Given the description of an element on the screen output the (x, y) to click on. 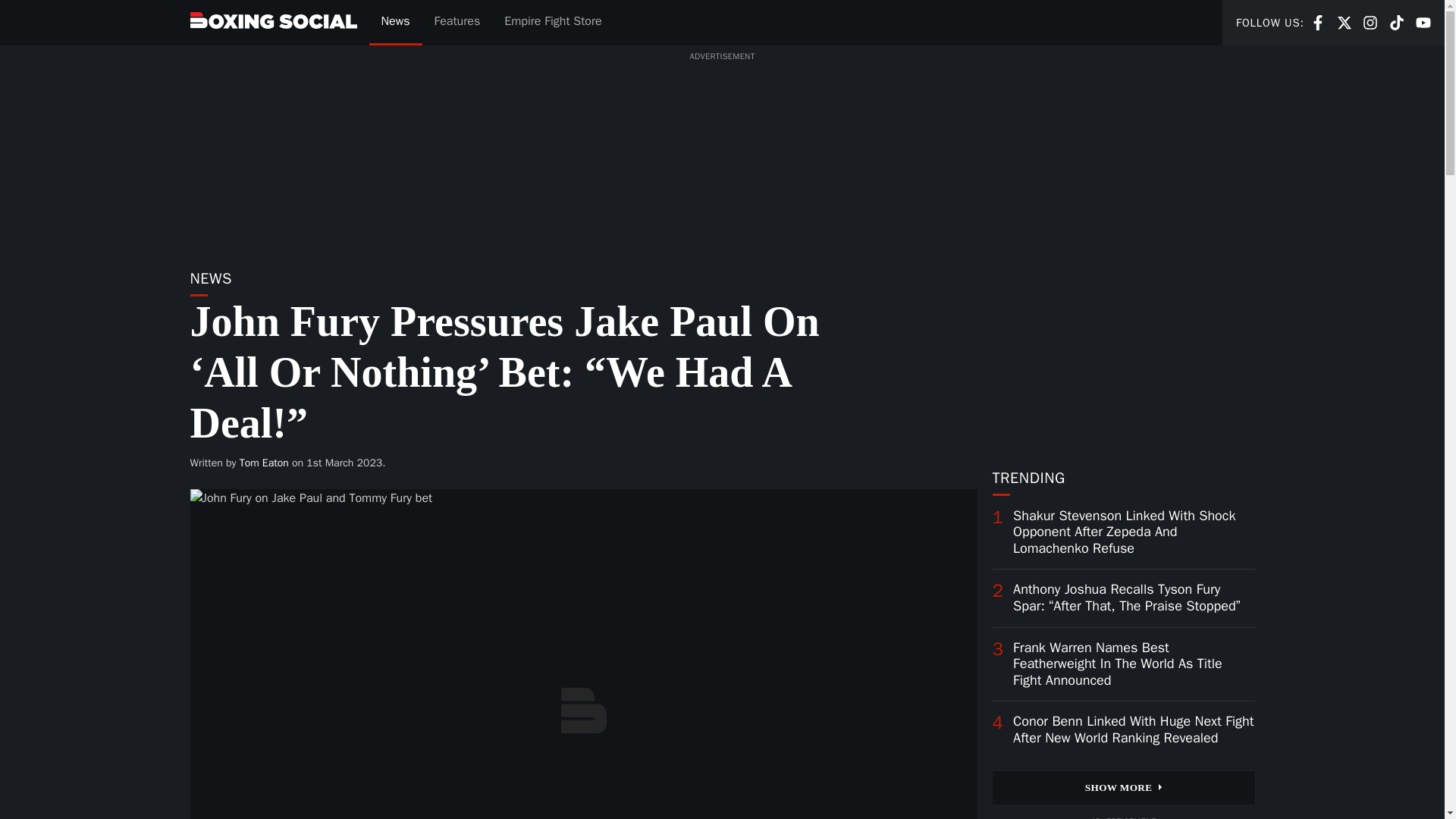
Features (457, 22)
News (395, 22)
Tom Eaton (264, 462)
INSTAGRAM (1369, 22)
SHOW MORE (1317, 21)
X (1122, 786)
Empire Fight Store (1423, 21)
